Given the description of an element on the screen output the (x, y) to click on. 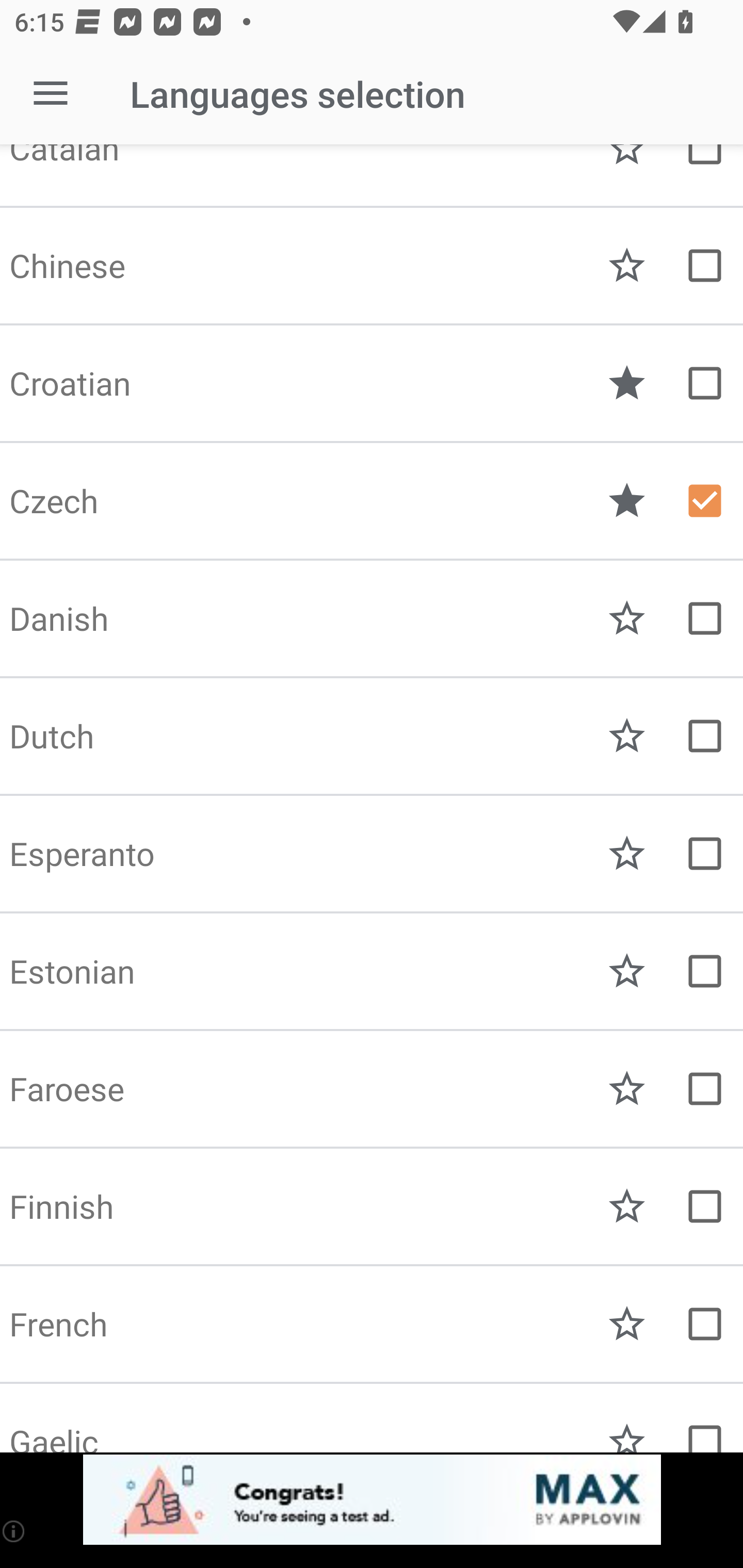
Open navigation sidebar (50, 93)
Chinese Favorite (371, 265)
Favorite (626, 265)
Croatian UnFavorite (371, 383)
UnFavorite (626, 383)
Czech UnFavorite (371, 500)
UnFavorite (626, 500)
Danish Favorite (371, 618)
Favorite (626, 618)
Dutch Favorite (371, 735)
Favorite (626, 736)
Esperanto Favorite (371, 853)
Favorite (626, 853)
Estonian Favorite (371, 971)
Favorite (626, 971)
Faroese Favorite (371, 1088)
Favorite (626, 1088)
Finnish Favorite (371, 1206)
Favorite (626, 1206)
French Favorite (371, 1323)
Favorite (626, 1324)
app-monetization (371, 1500)
(i) (14, 1531)
